Given the description of an element on the screen output the (x, y) to click on. 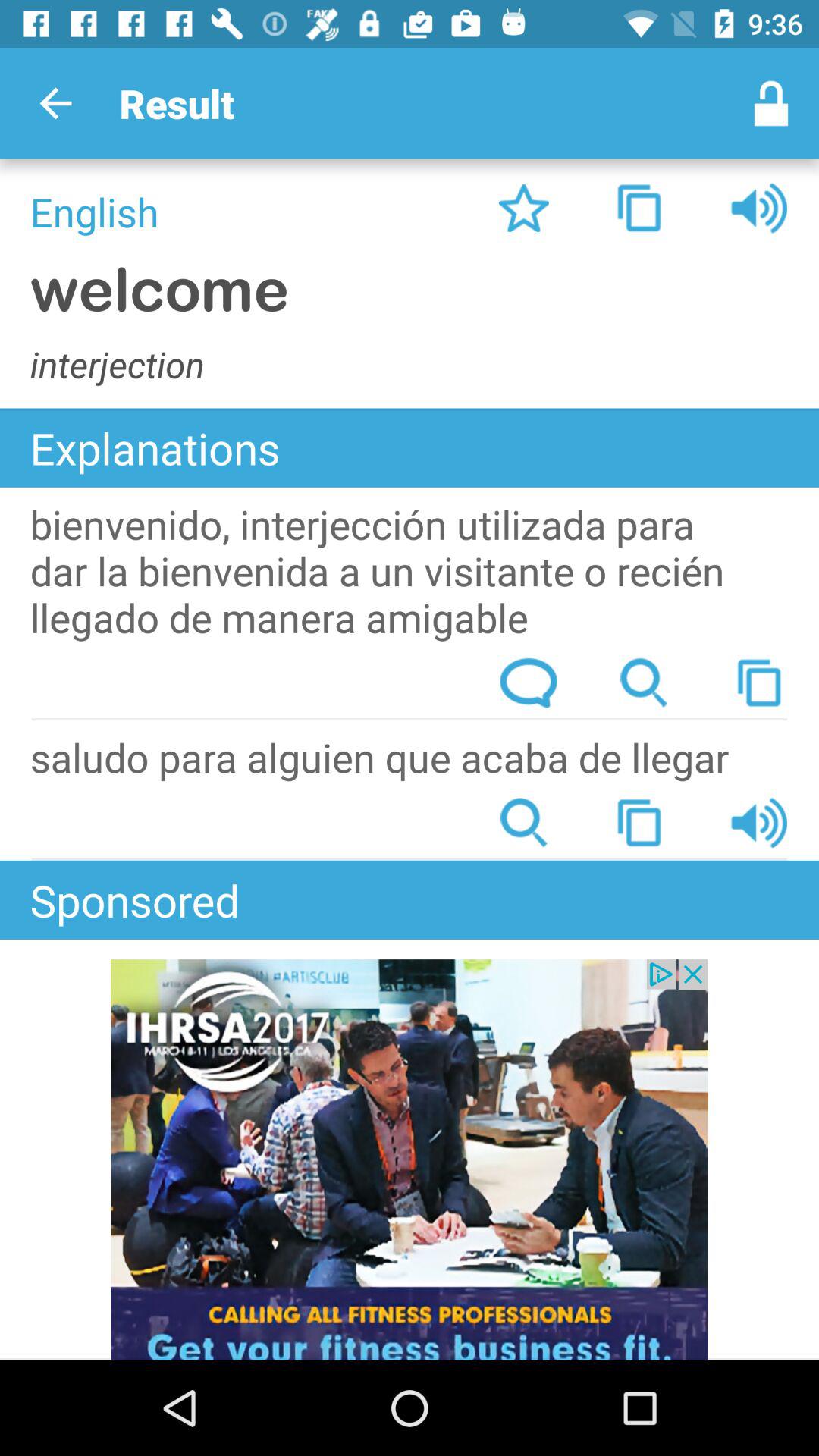
select advertisement (409, 1159)
